Given the description of an element on the screen output the (x, y) to click on. 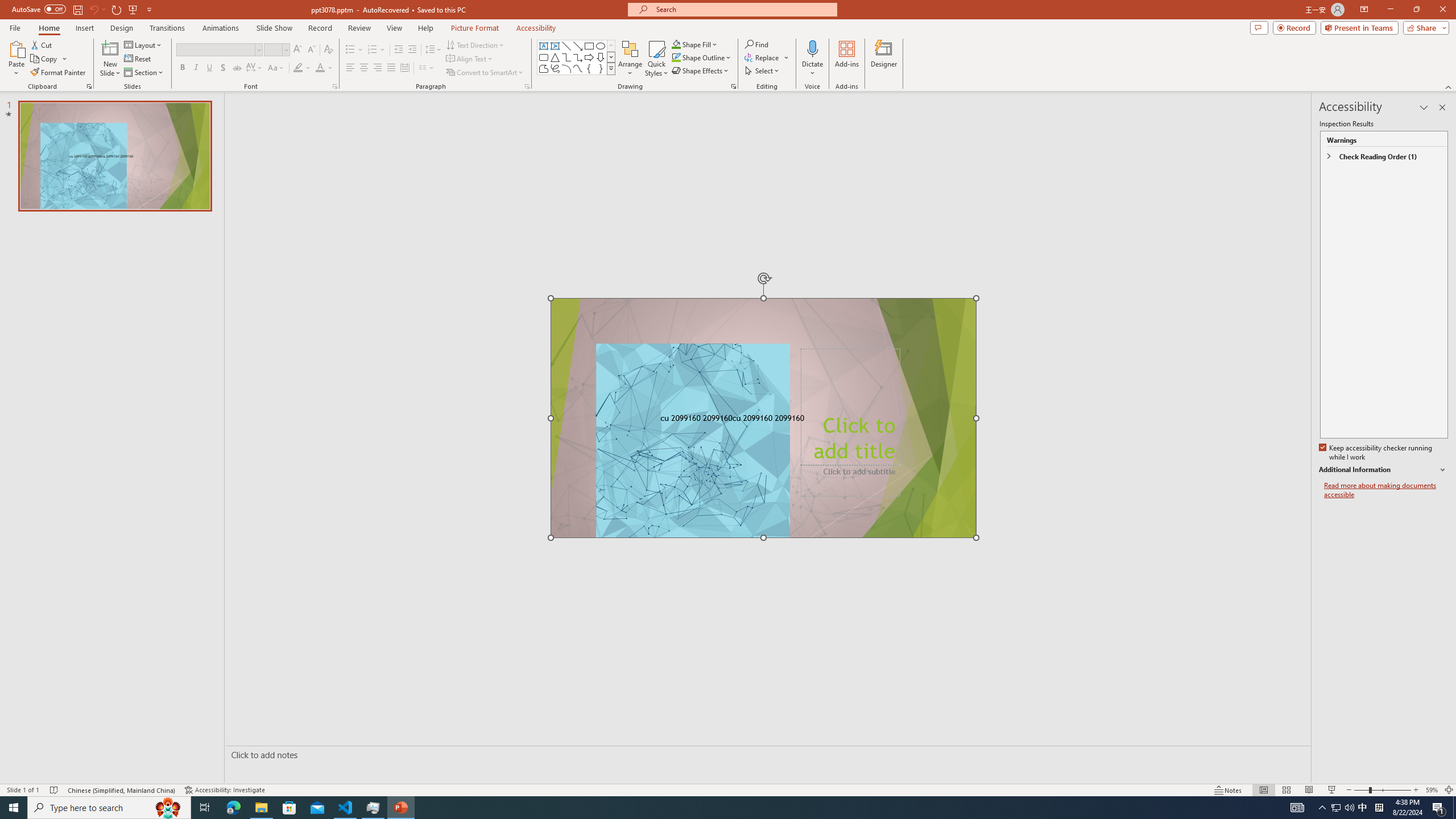
Shape Outline Green, Accent 1 (675, 56)
Zoom 59% (1431, 790)
